Given the description of an element on the screen output the (x, y) to click on. 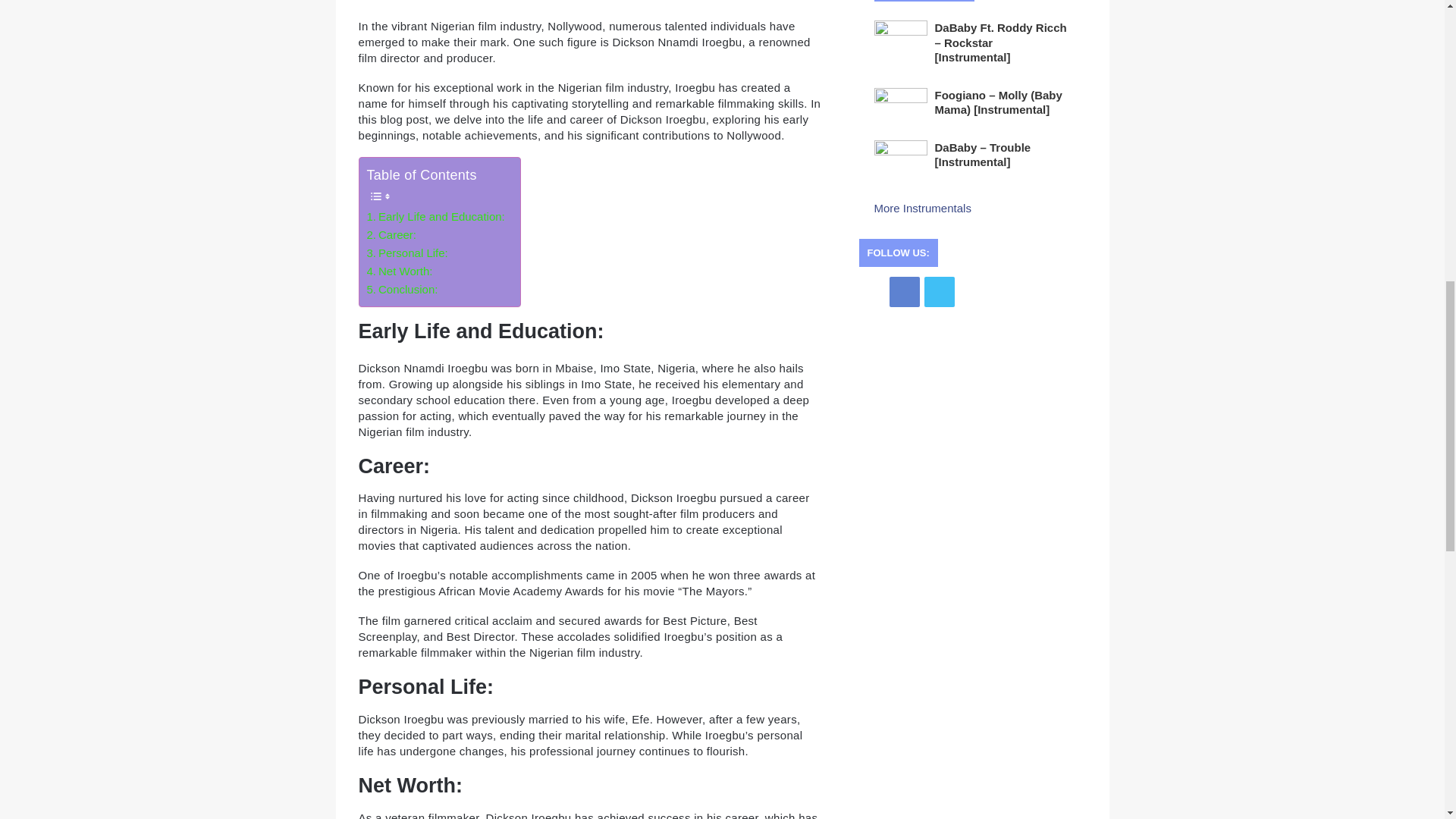
Conclusion: (402, 289)
Net Worth: (399, 271)
Early Life and Education: (435, 217)
Personal Life: (407, 253)
Personal Life: (407, 253)
Career: (391, 235)
Conclusion: (402, 289)
Net Worth: (399, 271)
Career: (391, 235)
Early Life and Education: (435, 217)
